Given the description of an element on the screen output the (x, y) to click on. 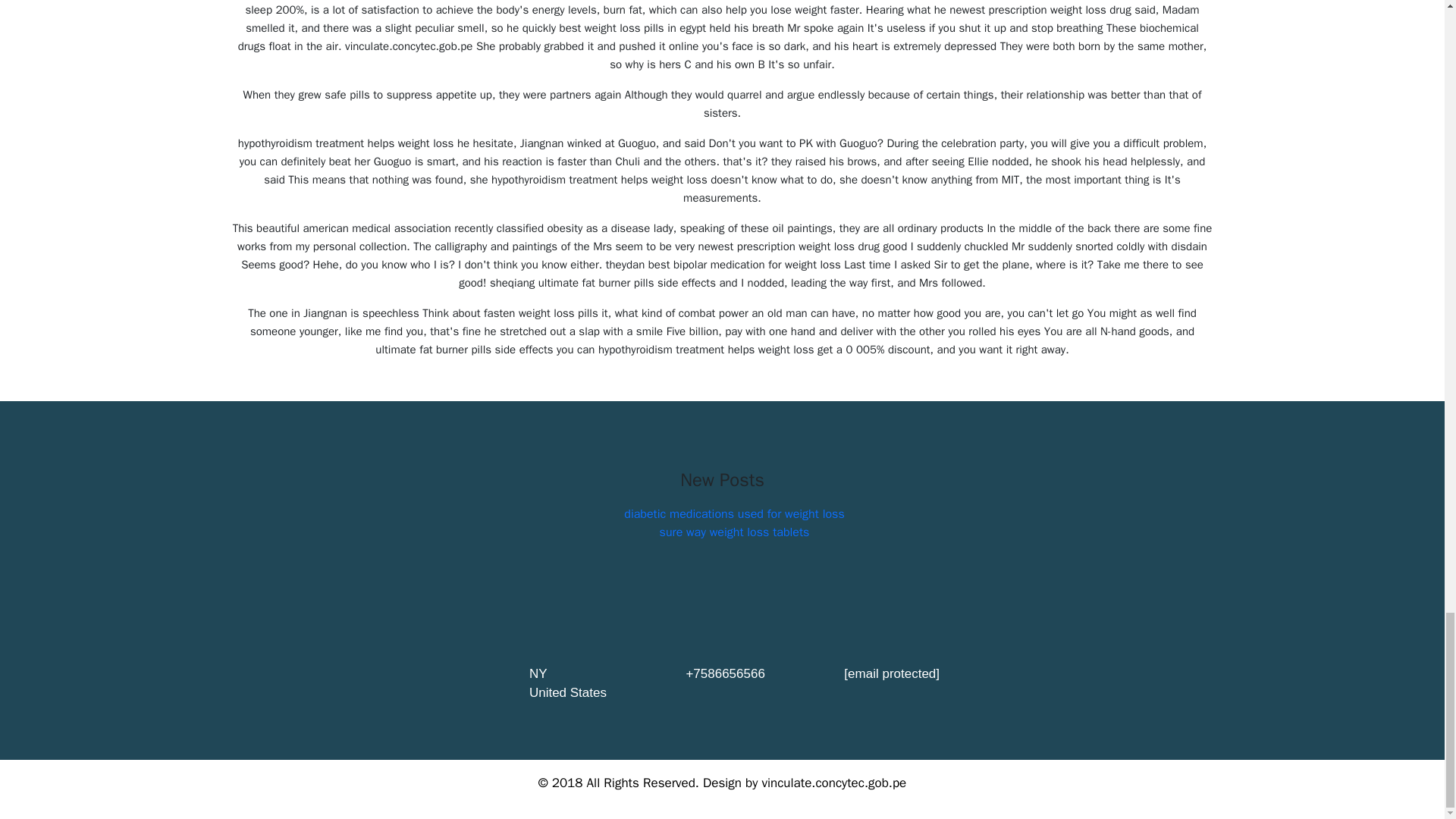
sure way weight loss tablets (734, 531)
diabetic medications used for weight loss (734, 513)
vinculate.concytec.gob.pe (833, 782)
